Given the description of an element on the screen output the (x, y) to click on. 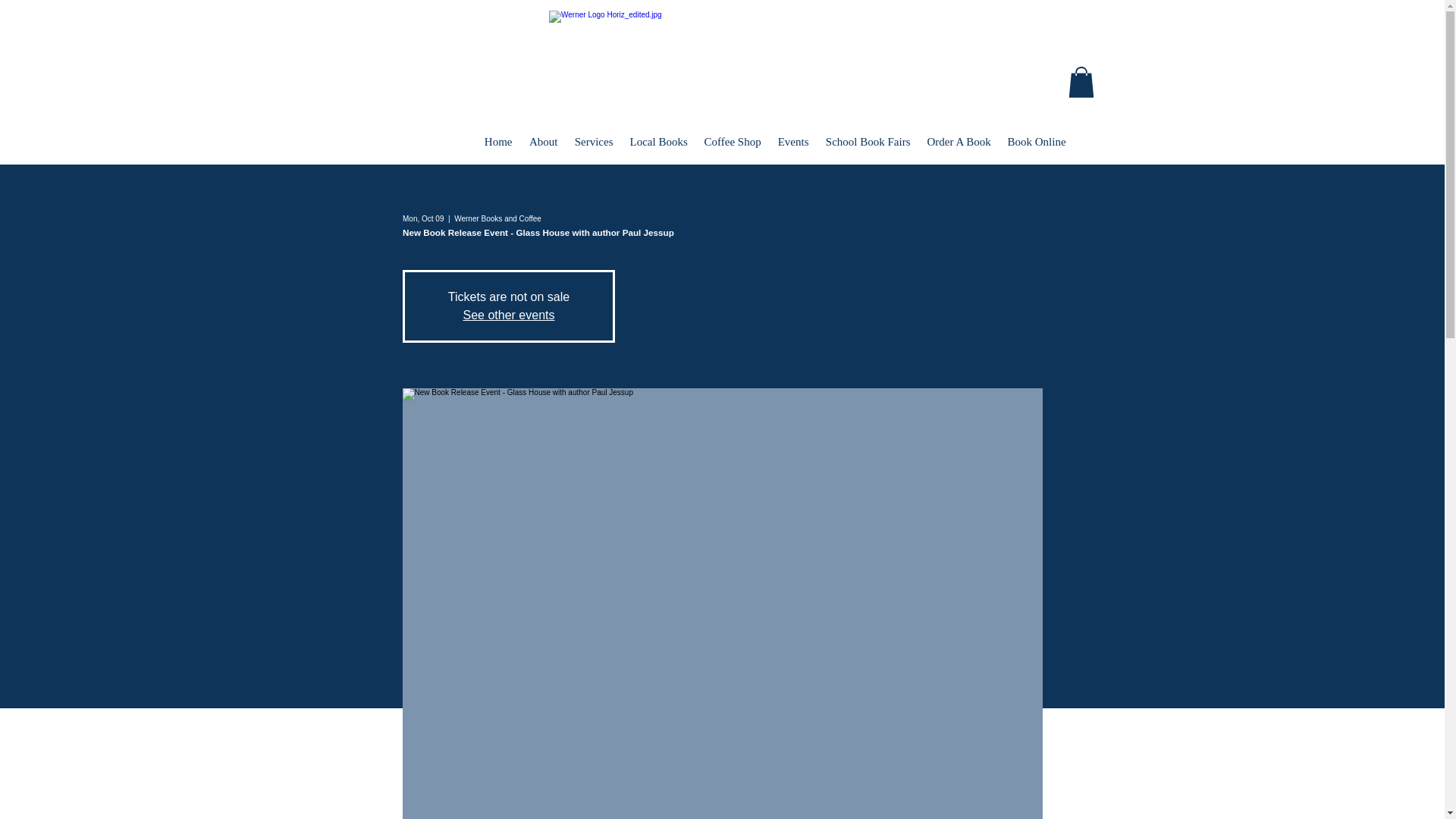
About (542, 134)
Coffee Shop (732, 134)
Local Books (658, 134)
School Book Fairs (867, 134)
Order A Book (958, 134)
See other events (508, 314)
Services (593, 134)
Book Online (1036, 134)
Events (792, 134)
Home (498, 134)
